Given the description of an element on the screen output the (x, y) to click on. 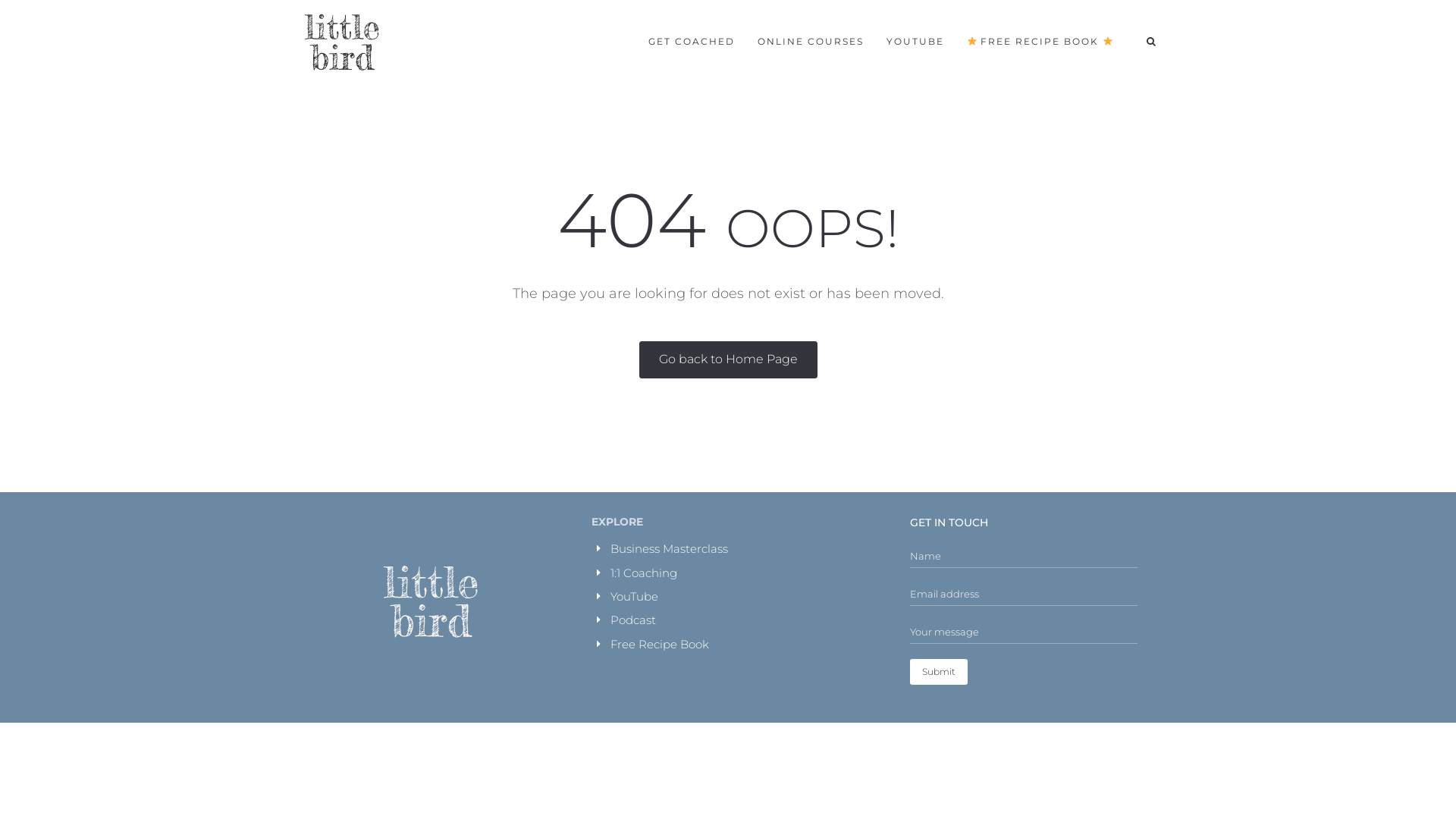
FREE RECIPE BOOK Element type: text (1039, 41)
1:1 Coaching Element type: text (643, 572)
Business Masterclass Element type: text (669, 548)
Free Recipe Book Element type: text (659, 644)
YOUTUBE Element type: text (915, 41)
Podcast Element type: text (632, 619)
Go back to Home Page Element type: text (727, 359)
Submit Element type: text (938, 671)
GET COACHED Element type: text (691, 41)
ONLINE COURSES Element type: text (810, 41)
YouTube Element type: text (634, 596)
